Given the description of an element on the screen output the (x, y) to click on. 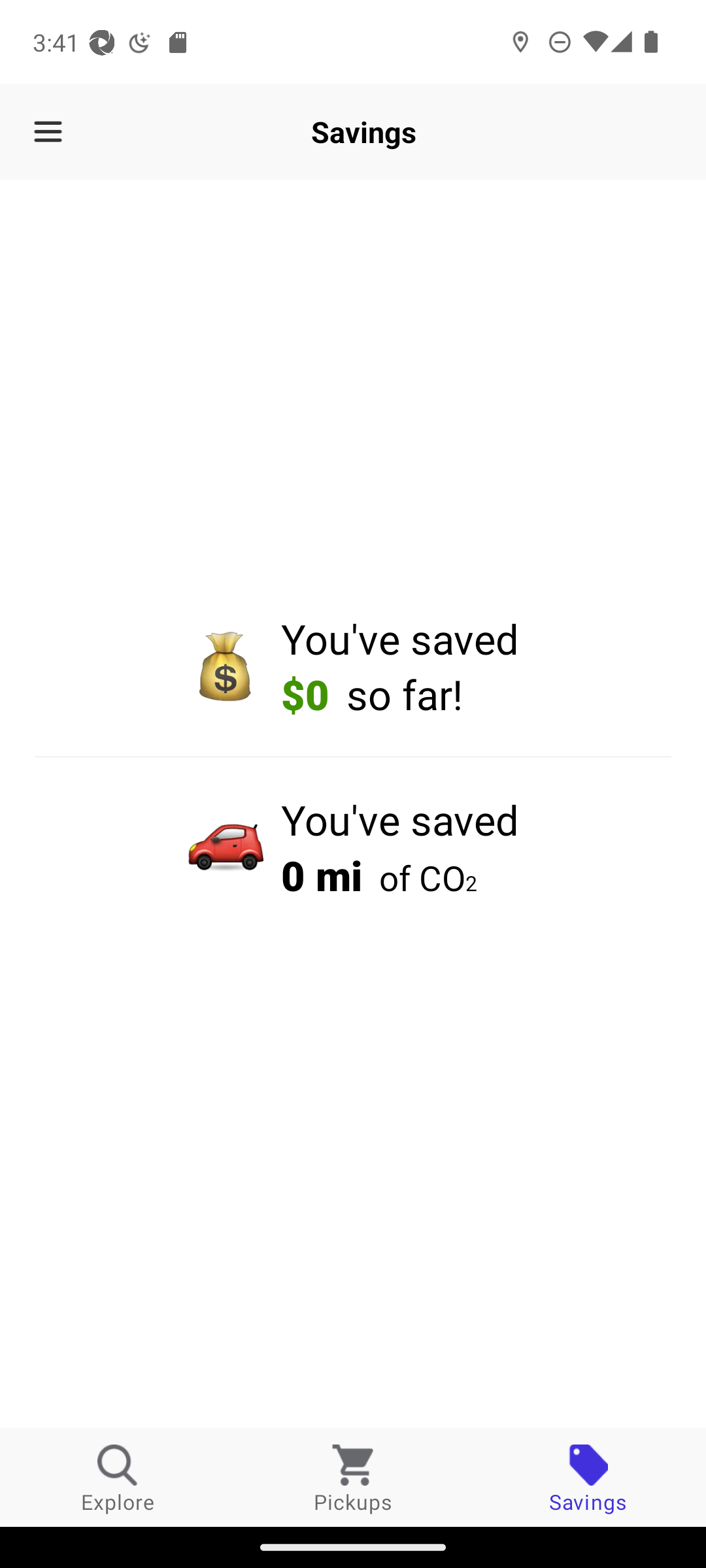
Navigate up (48, 131)
Explore (117, 1478)
Pickups (352, 1478)
